Given the description of an element on the screen output the (x, y) to click on. 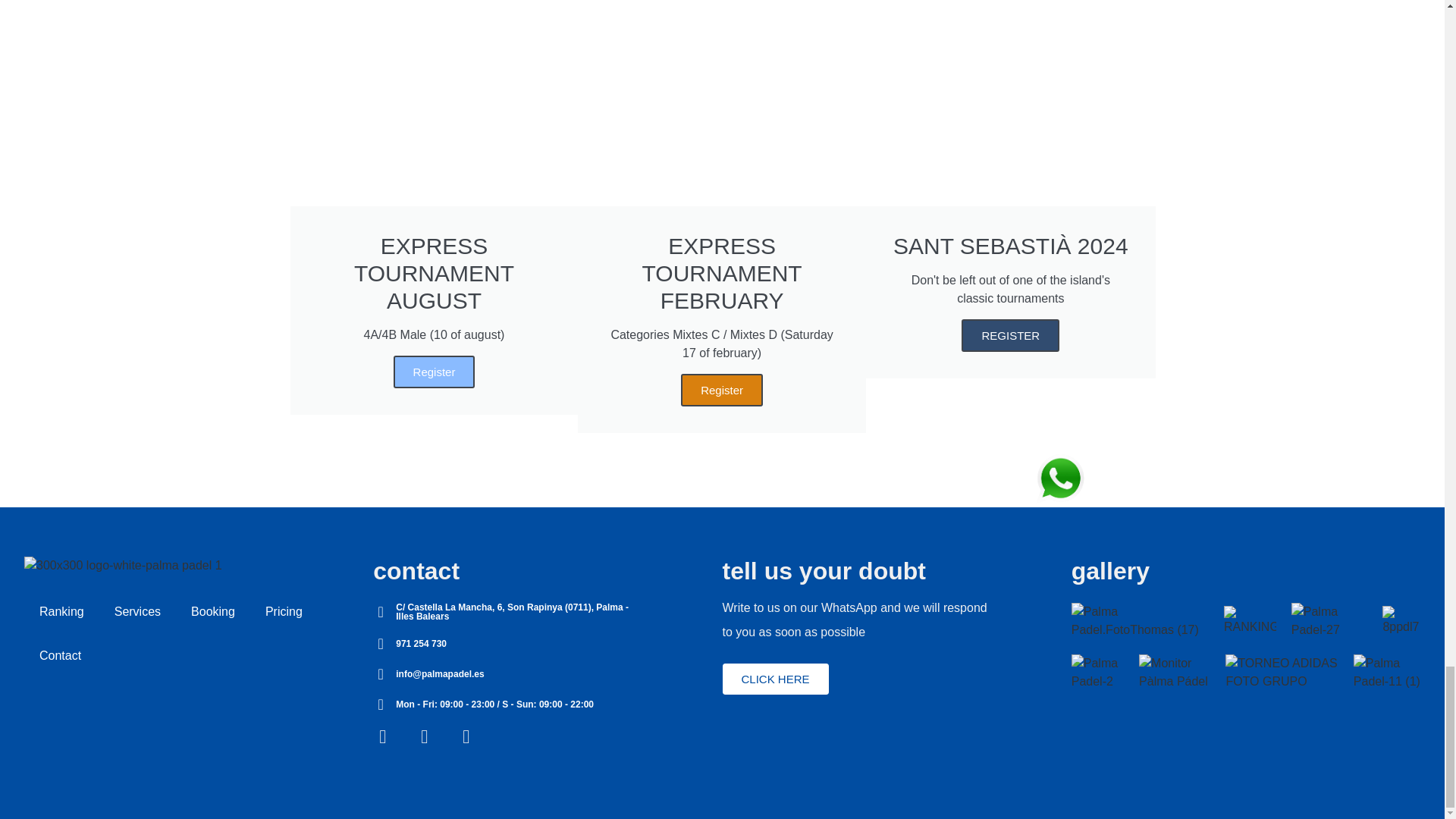
Palma Padel-2 (1097, 672)
Palma Padel-27 (1329, 620)
TORNEO ADIDAS FOTO GRUPO (1281, 672)
RANKING (1250, 621)
8ppdl7 (1401, 621)
